Given the description of an element on the screen output the (x, y) to click on. 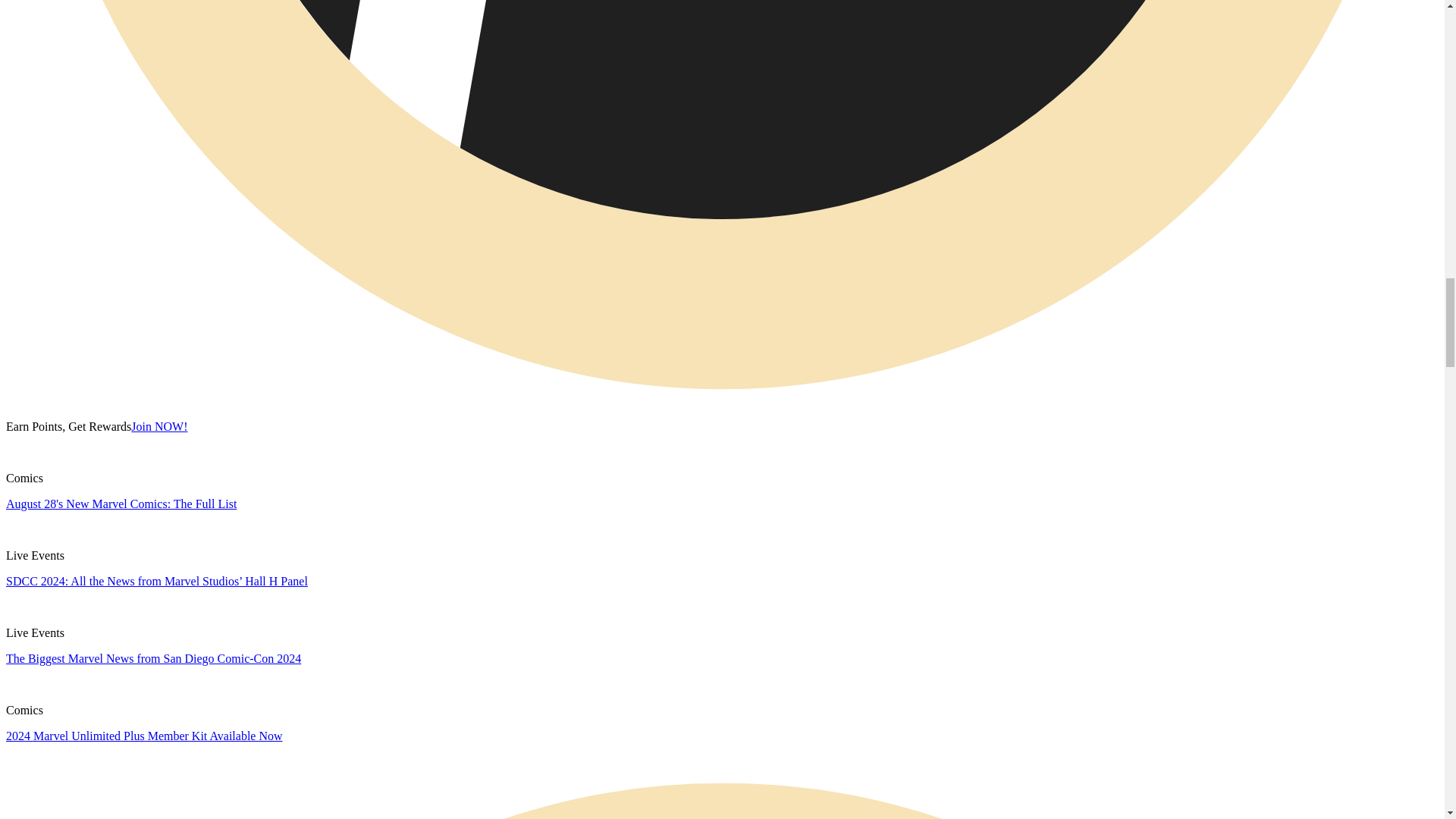
2024 Marvel Unlimited Plus Member Kit Available Now (143, 735)
August 28's New Marvel Comics: The Full List (120, 503)
Join NOW! (159, 426)
The Biggest Marvel News from San Diego Comic-Con 2024 (153, 658)
